Given the description of an element on the screen output the (x, y) to click on. 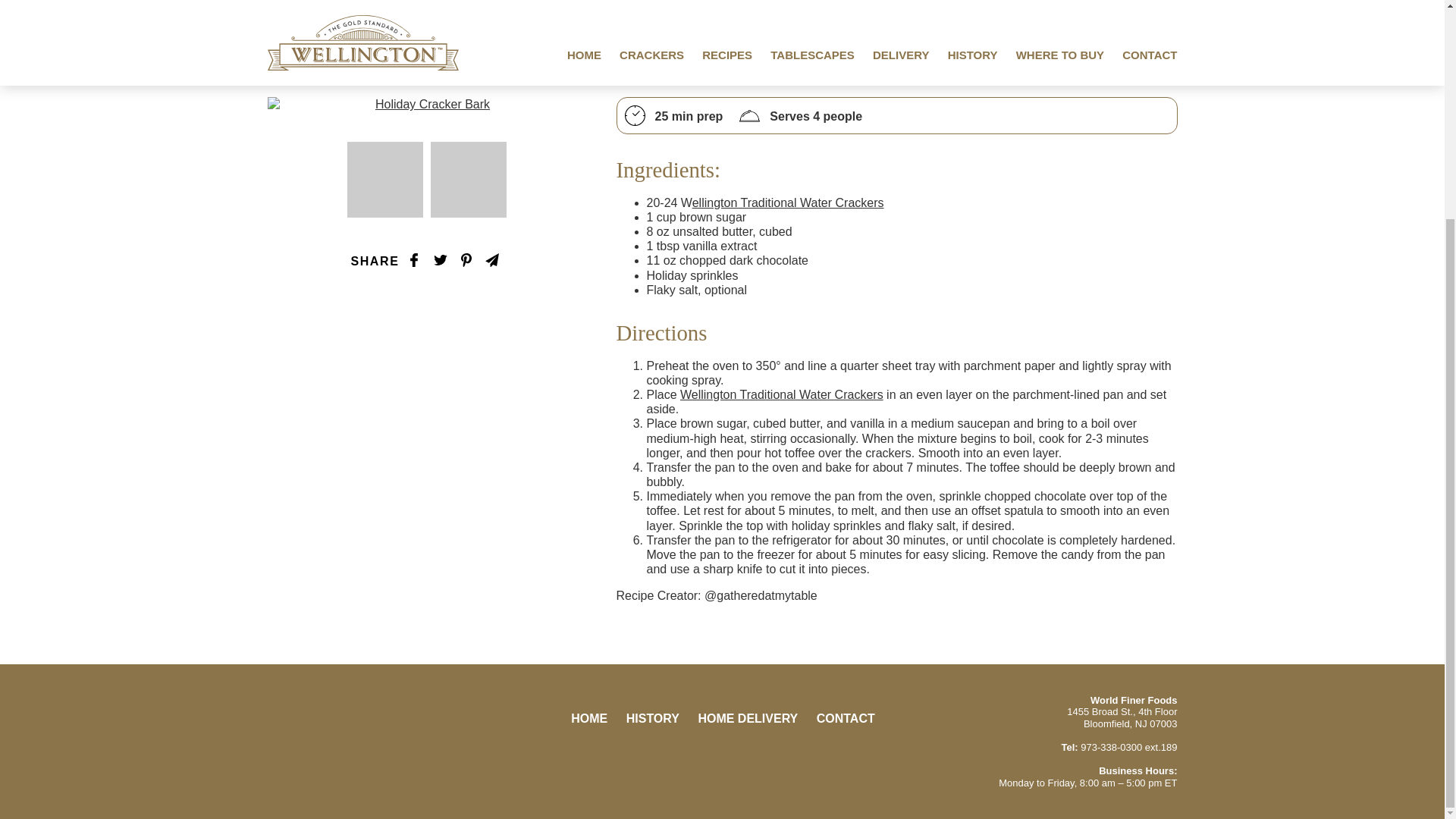
Instagram (743, 760)
Wellington Traditional Water Crackers (781, 394)
HOME DELIVERY (747, 717)
Facebook (701, 760)
CONTACT (845, 717)
Share to Pinterest (466, 259)
HISTORY (652, 717)
Tablescape Image (468, 179)
Wellington Crackers (362, 741)
Share to Twitter (439, 259)
HOME (588, 717)
Share to Facebook (413, 259)
ellington Traditional Water Crackers (788, 202)
Share as Email (491, 259)
Tablescape Image (385, 179)
